Given the description of an element on the screen output the (x, y) to click on. 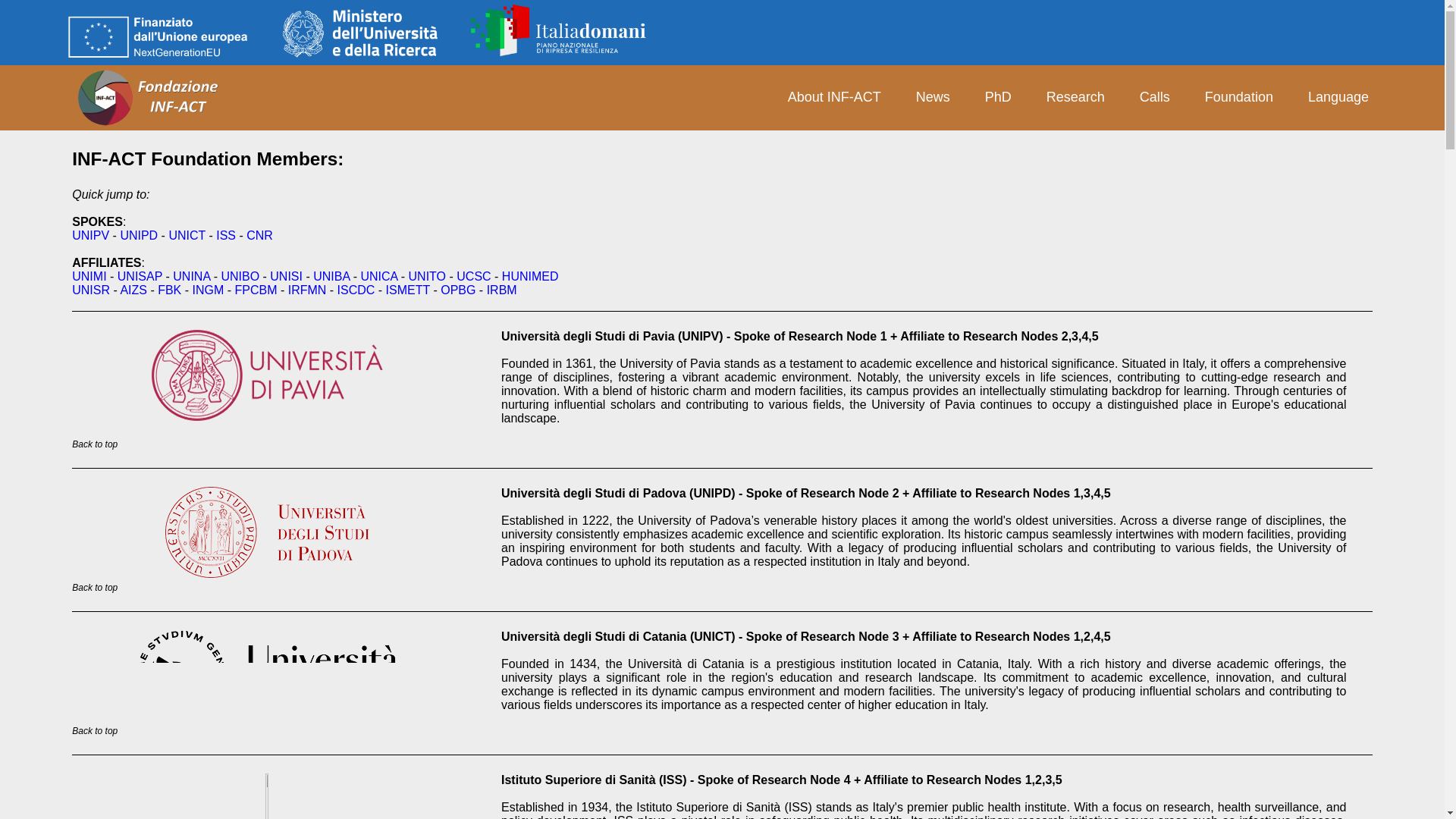
UNICA (378, 276)
UNIPV (90, 235)
UNIMI (88, 276)
UNISAP (139, 276)
CNR (259, 235)
ISS (225, 235)
UNICT (186, 235)
UNIBO (240, 276)
PNRR Italia Domani (563, 30)
UNIPD (138, 235)
PhD (157, 37)
UNINA (998, 96)
UNIBA (191, 276)
MUR PNRR (331, 276)
